Given the description of an element on the screen output the (x, y) to click on. 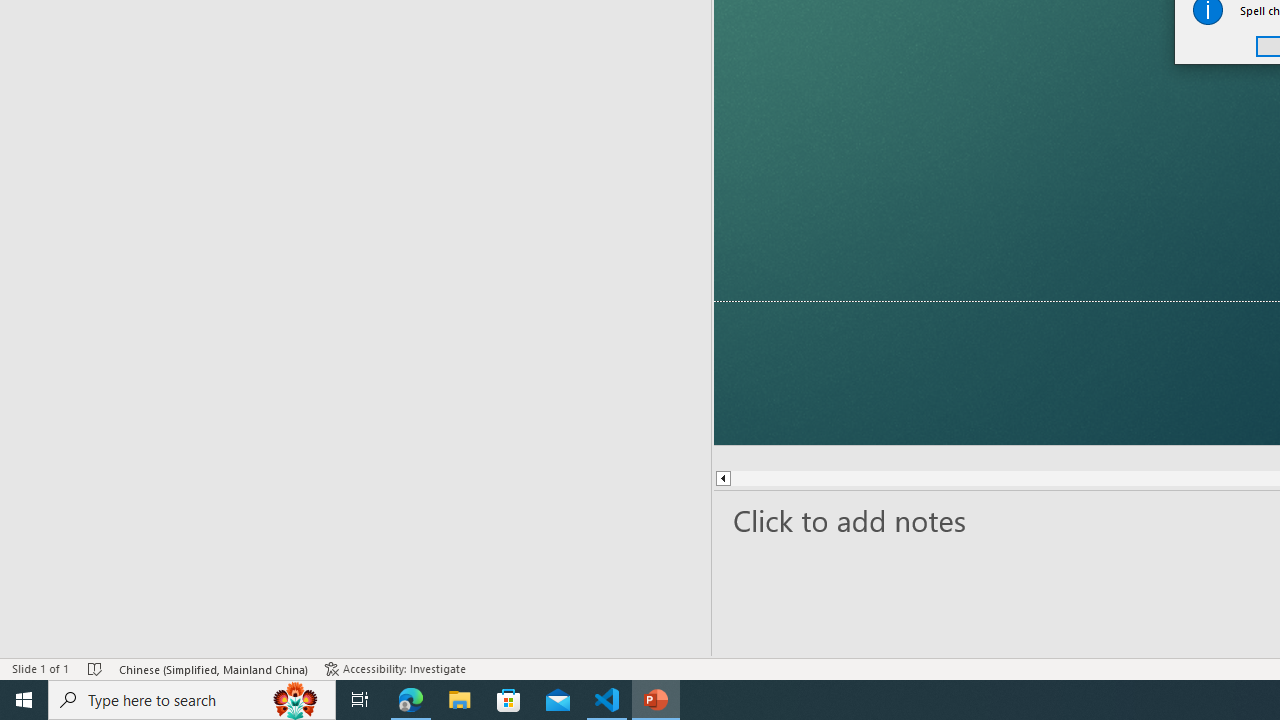
Microsoft Edge - 1 running window (411, 699)
